Given the description of an element on the screen output the (x, y) to click on. 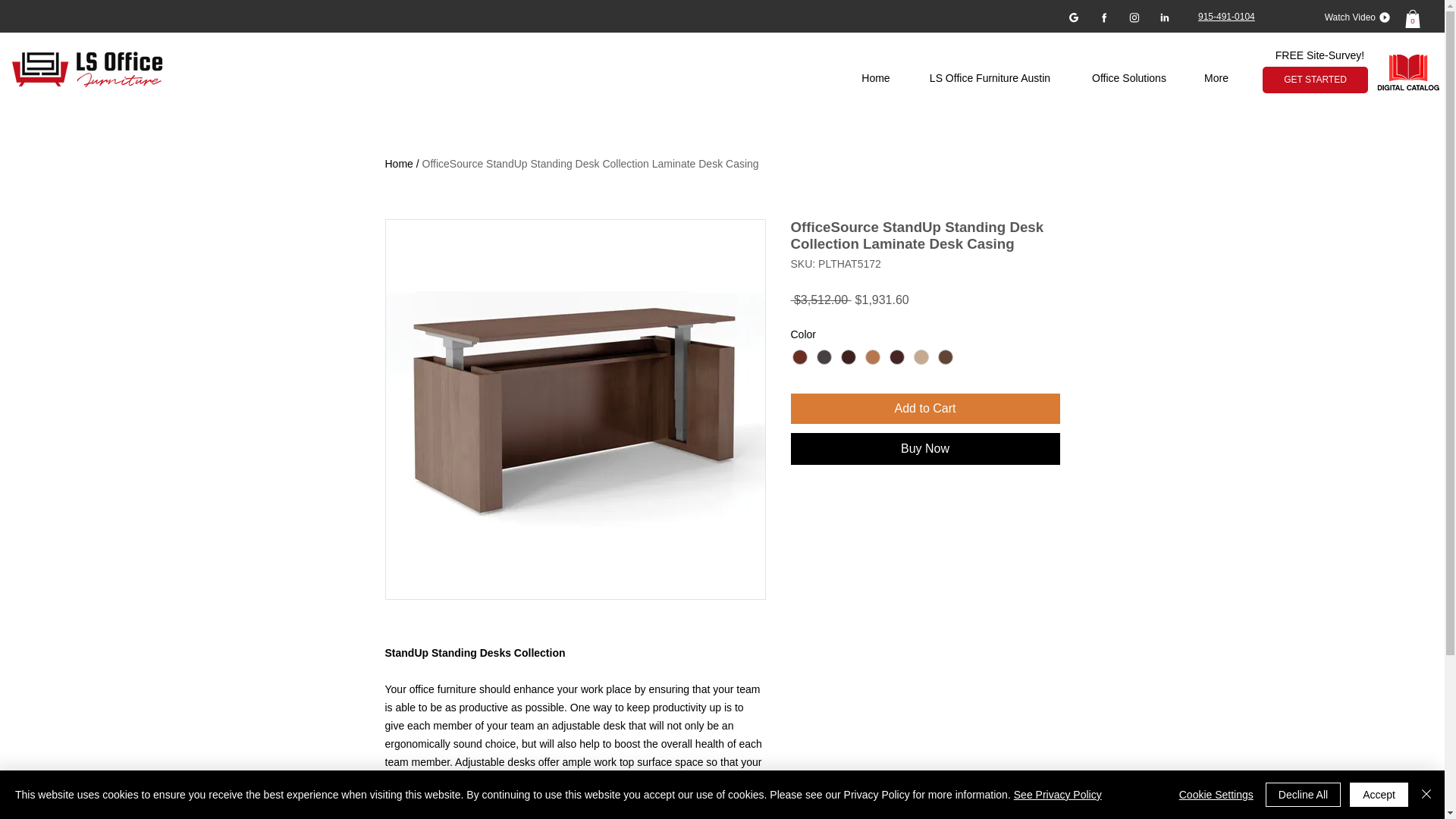
Add to Cart (924, 408)
Home (399, 163)
LS Office Furniture Austin (989, 78)
Digital Catalog (1409, 73)
See Privacy Policy (1057, 794)
Watch Video (1350, 16)
GET STARTED (1315, 79)
Buy Now (924, 449)
Home (875, 78)
